Given the description of an element on the screen output the (x, y) to click on. 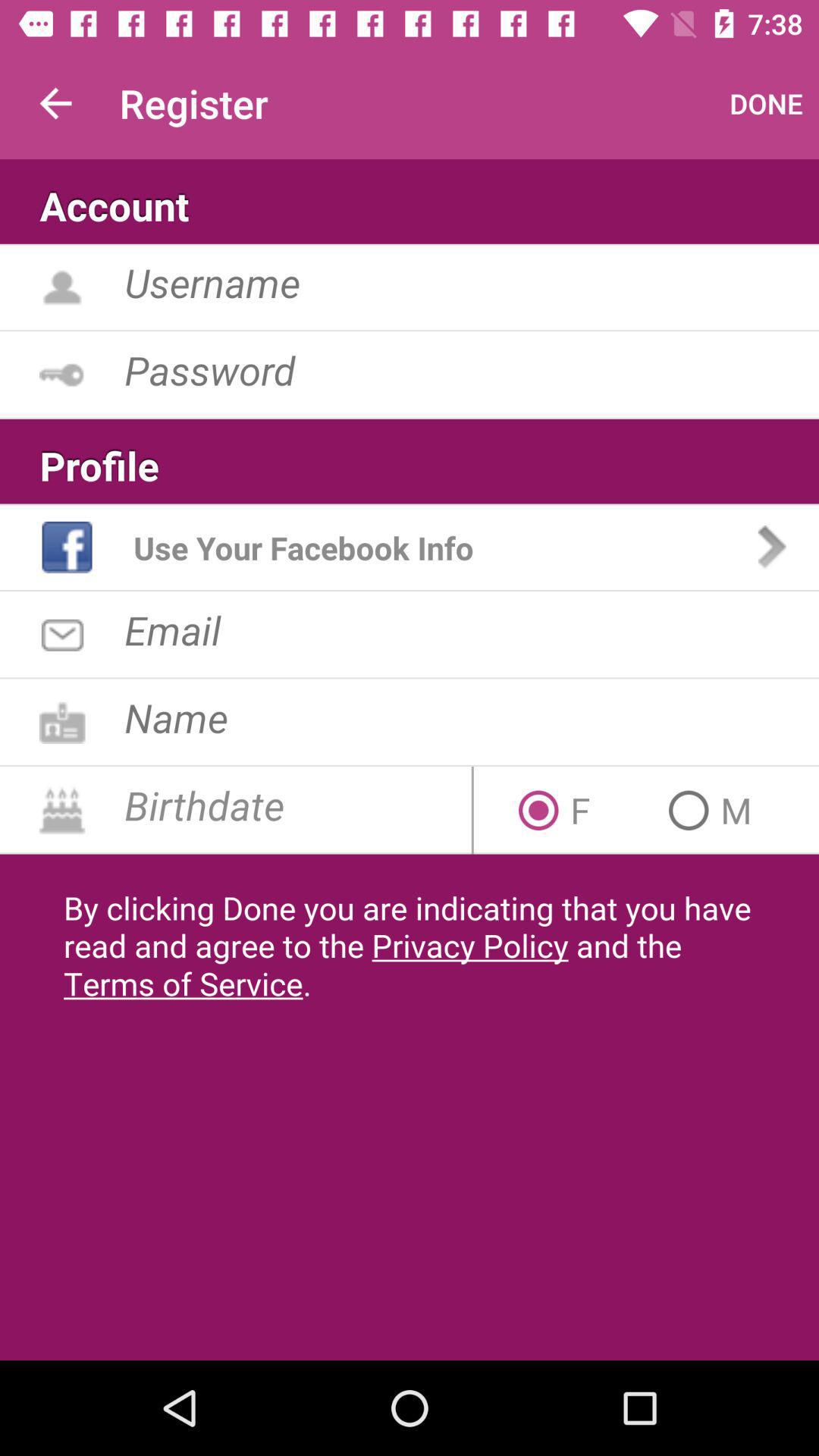
enter name (471, 717)
